Given the description of an element on the screen output the (x, y) to click on. 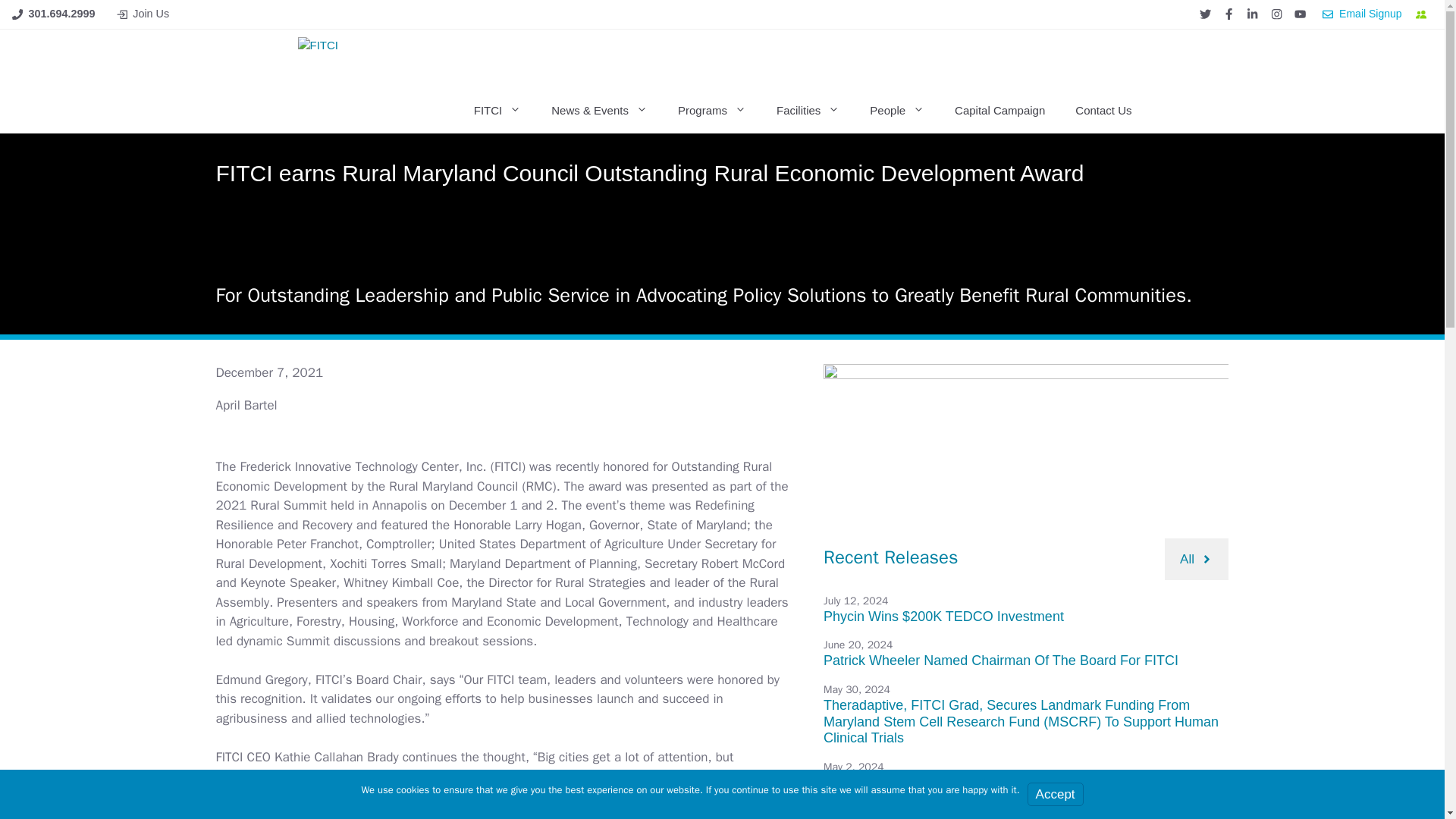
Capital Campaign (999, 110)
Join Us (150, 13)
People (896, 110)
Contact Us (1103, 110)
FITCI (405, 58)
Programs (711, 110)
Facilities (807, 110)
Recent Releases (891, 557)
301.694.2999 (62, 13)
FITCI (497, 110)
